Given the description of an element on the screen output the (x, y) to click on. 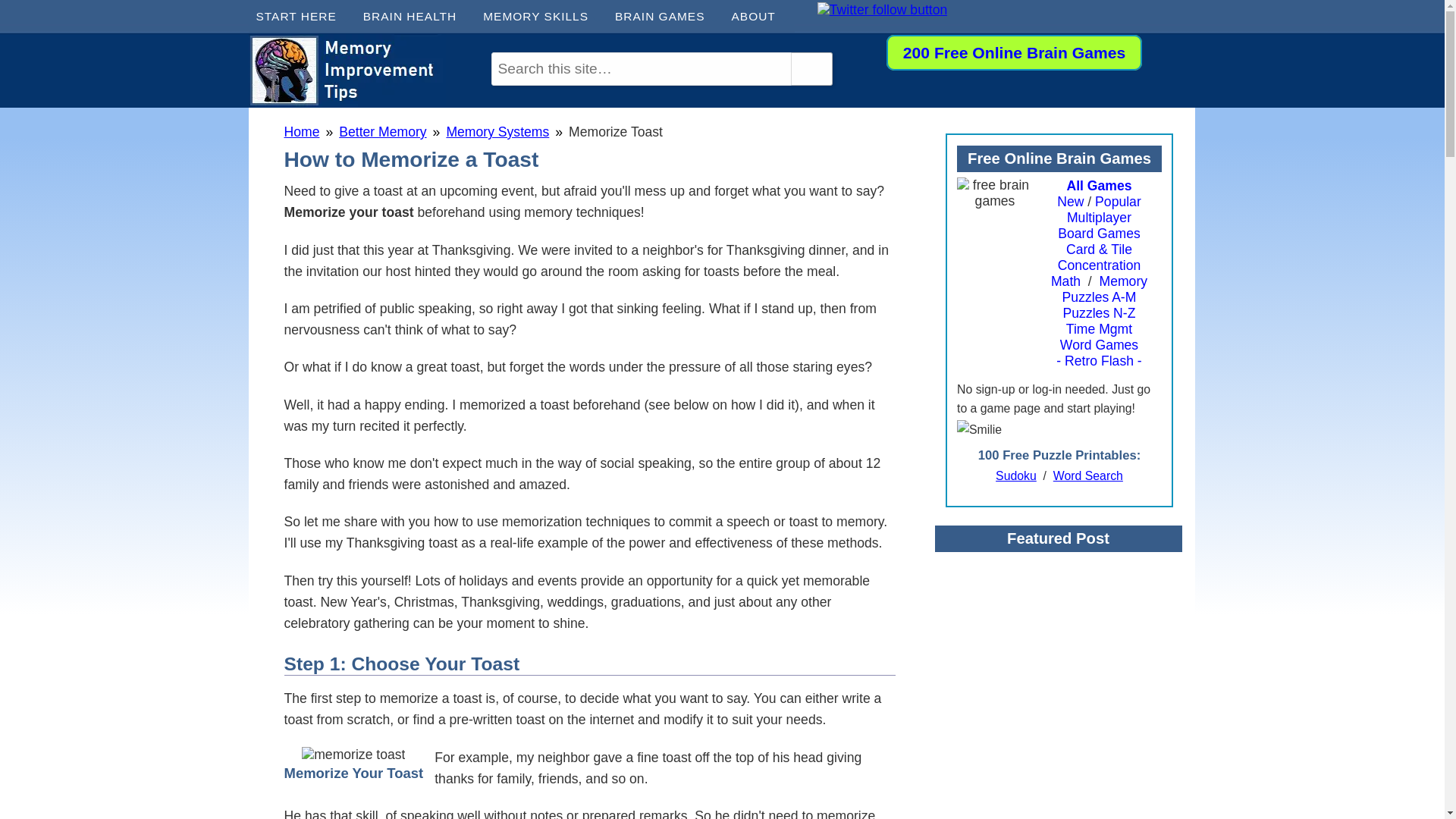
START HERE (301, 16)
Cheers! (352, 754)
ABOUT (758, 16)
Play Free Anytime (1013, 51)
BRAIN GAMES (665, 16)
BRAIN HEALTH (415, 16)
MEMORY SKILLS (541, 16)
